Given the description of an element on the screen output the (x, y) to click on. 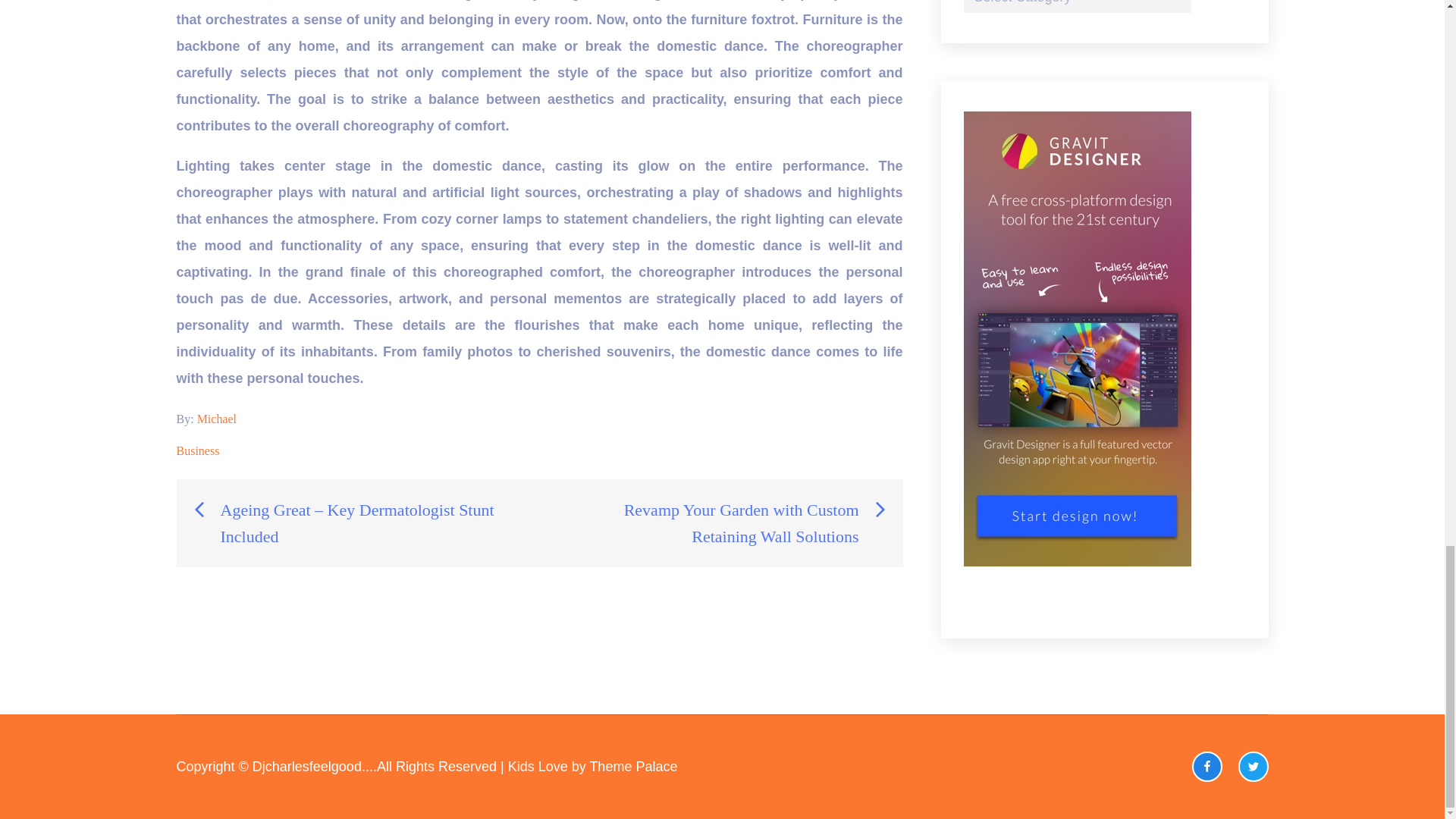
Michael (215, 418)
facebook (1207, 766)
twitter (1252, 766)
Theme Palace (633, 766)
Business (197, 450)
